Given the description of an element on the screen output the (x, y) to click on. 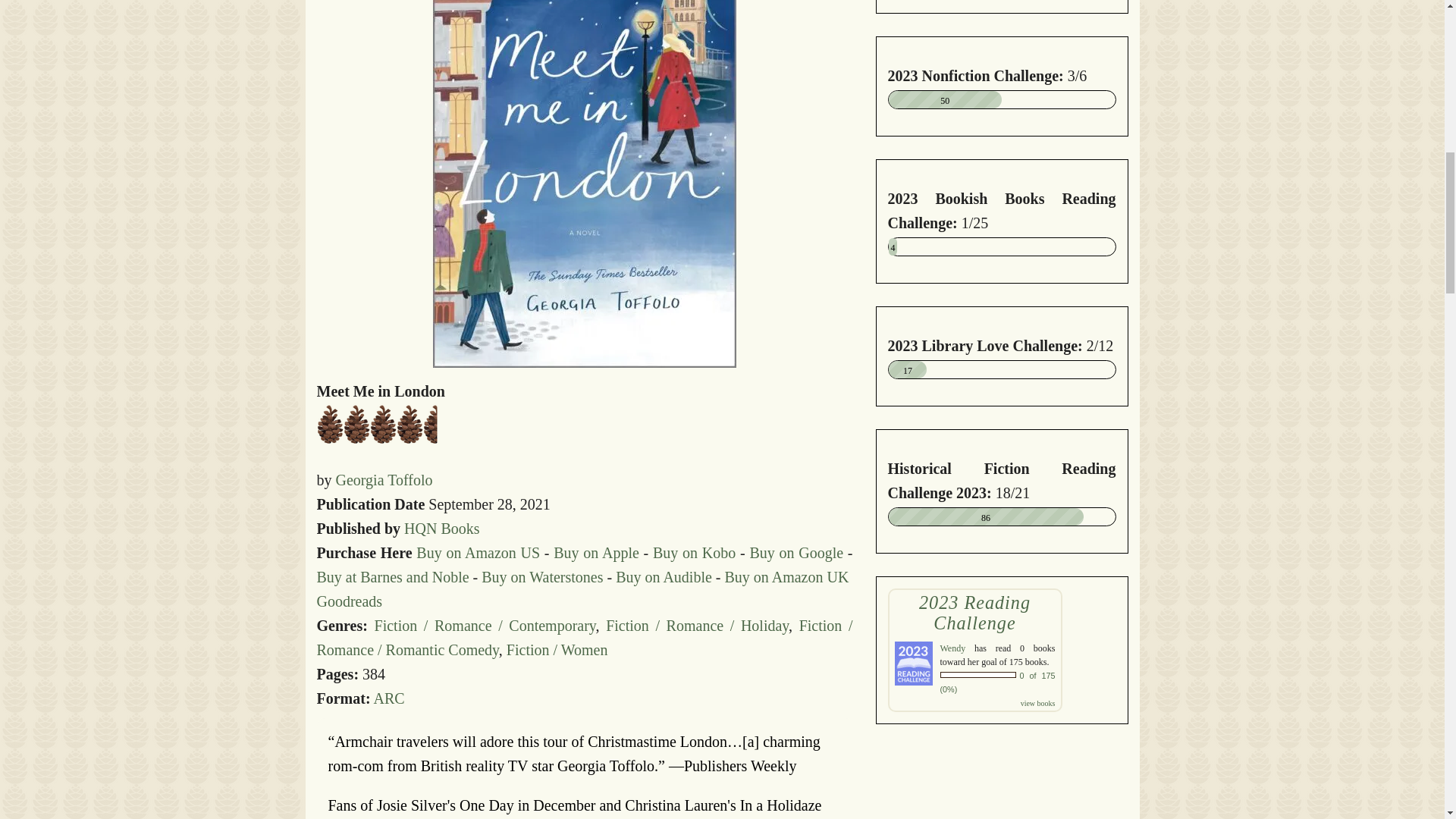
Buy on Kobo (693, 552)
Georgia Toffolo (383, 479)
Buy on Amazon UK (786, 576)
Goodreads (349, 600)
Buy on Google (796, 552)
Buy at Barnes and Noble (392, 576)
Buy on Amazon US (478, 552)
Buy on Waterstones (541, 576)
Buy on Apple (596, 552)
HQN Books (441, 528)
